Given the description of an element on the screen output the (x, y) to click on. 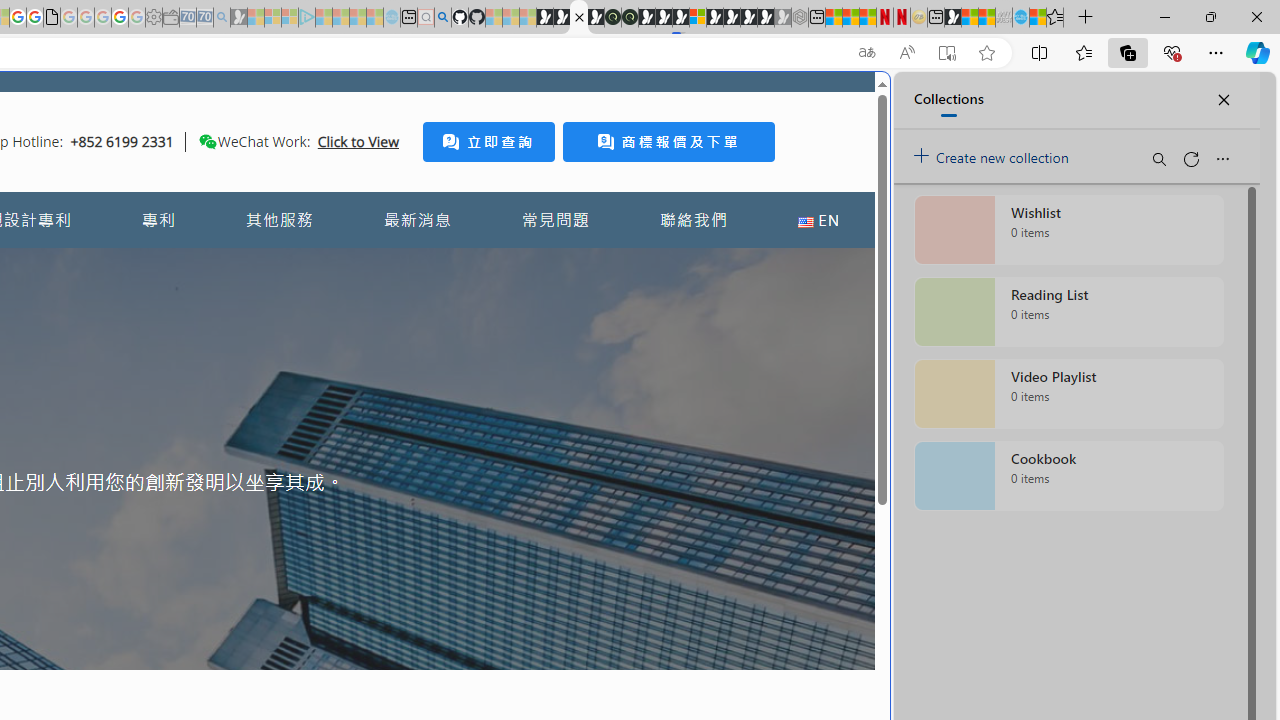
Search or enter web address (343, 191)
Home | Sky Blue Bikes - Sky Blue Bikes (687, 426)
Frequently visited (418, 265)
Close split screen (844, 102)
World - MSN (969, 17)
EN (818, 220)
